Given the description of an element on the screen output the (x, y) to click on. 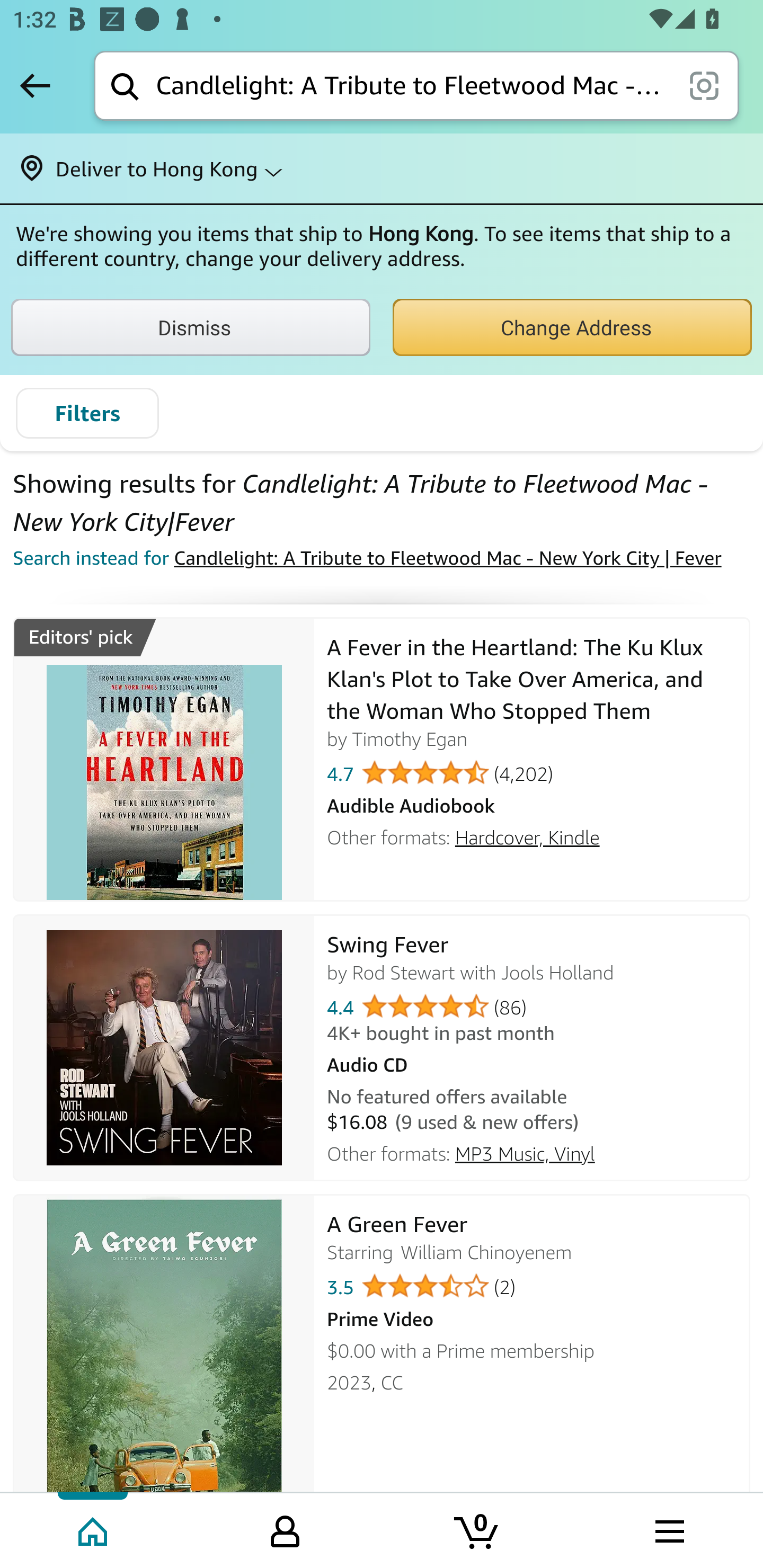
Back (35, 85)
scan it (704, 85)
Deliver to Hong Kong ⌵ (381, 168)
Dismiss (190, 327)
Change Address (571, 327)
Filters (87, 413)
Swing Fever (164, 1047)
A Green Fever (164, 1355)
Home Tab 1 of 4 (94, 1529)
Your Amazon.com Tab 2 of 4 (285, 1529)
Cart 0 item Tab 3 of 4 0 (477, 1529)
Browse menu Tab 4 of 4 (668, 1529)
